Given the description of an element on the screen output the (x, y) to click on. 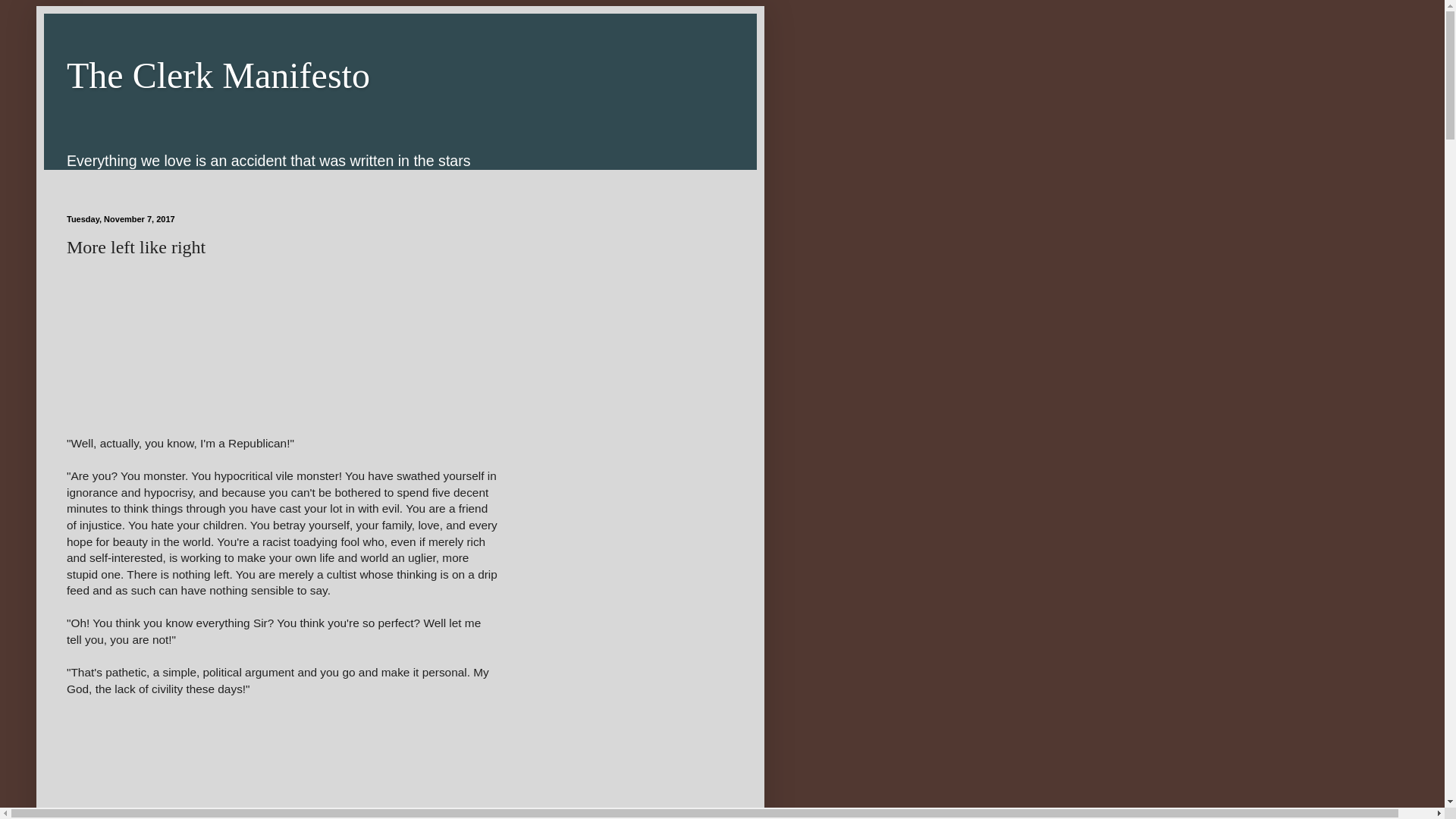
The Clerk Manifesto (217, 75)
